Given the description of an element on the screen output the (x, y) to click on. 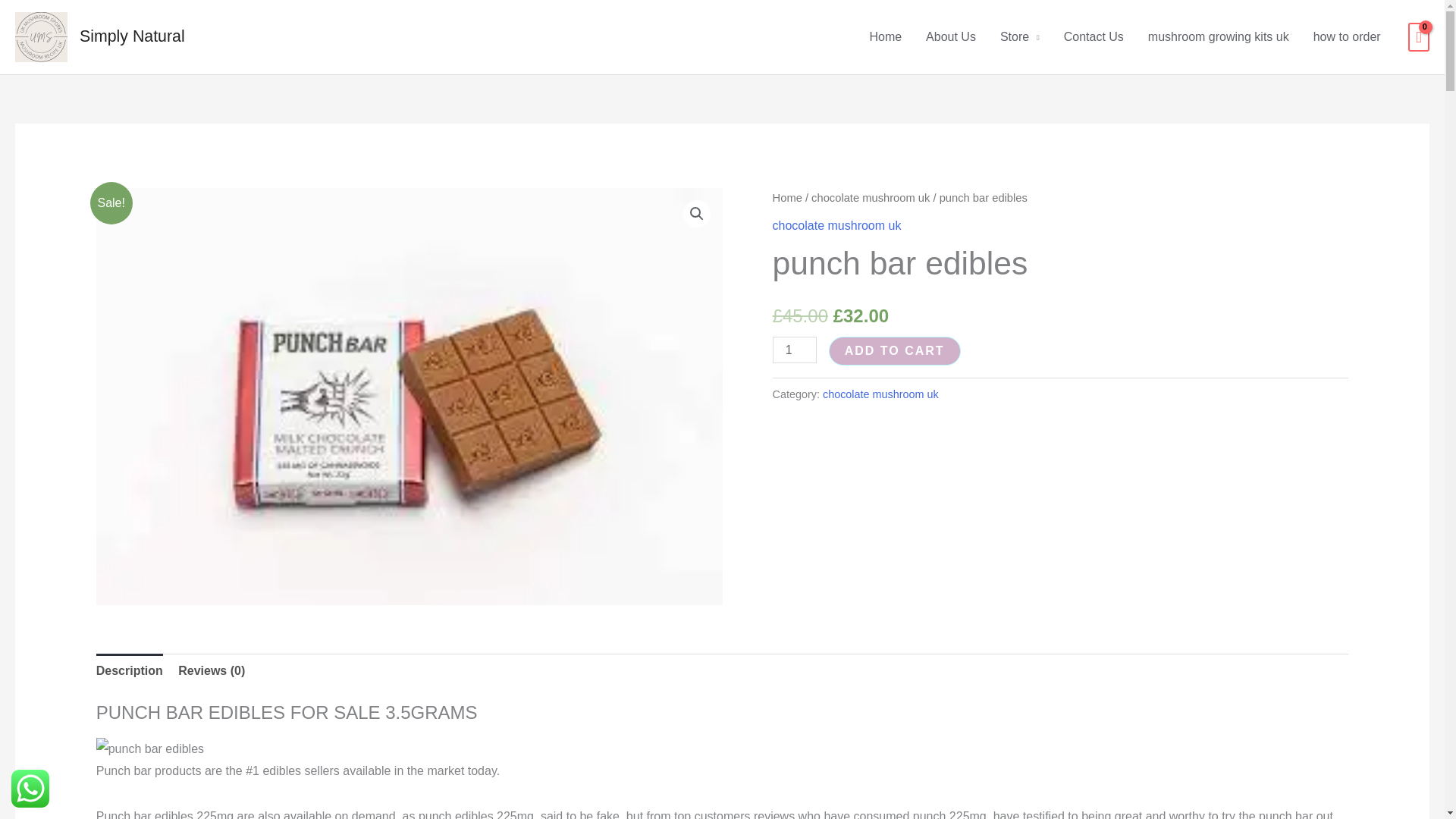
About Us (951, 36)
Contact Us (1093, 36)
Home (885, 36)
1 (794, 349)
how to order (1347, 36)
Simply Natural (132, 36)
mushroom growing kits uk (1218, 36)
Store (1019, 36)
